Given the description of an element on the screen output the (x, y) to click on. 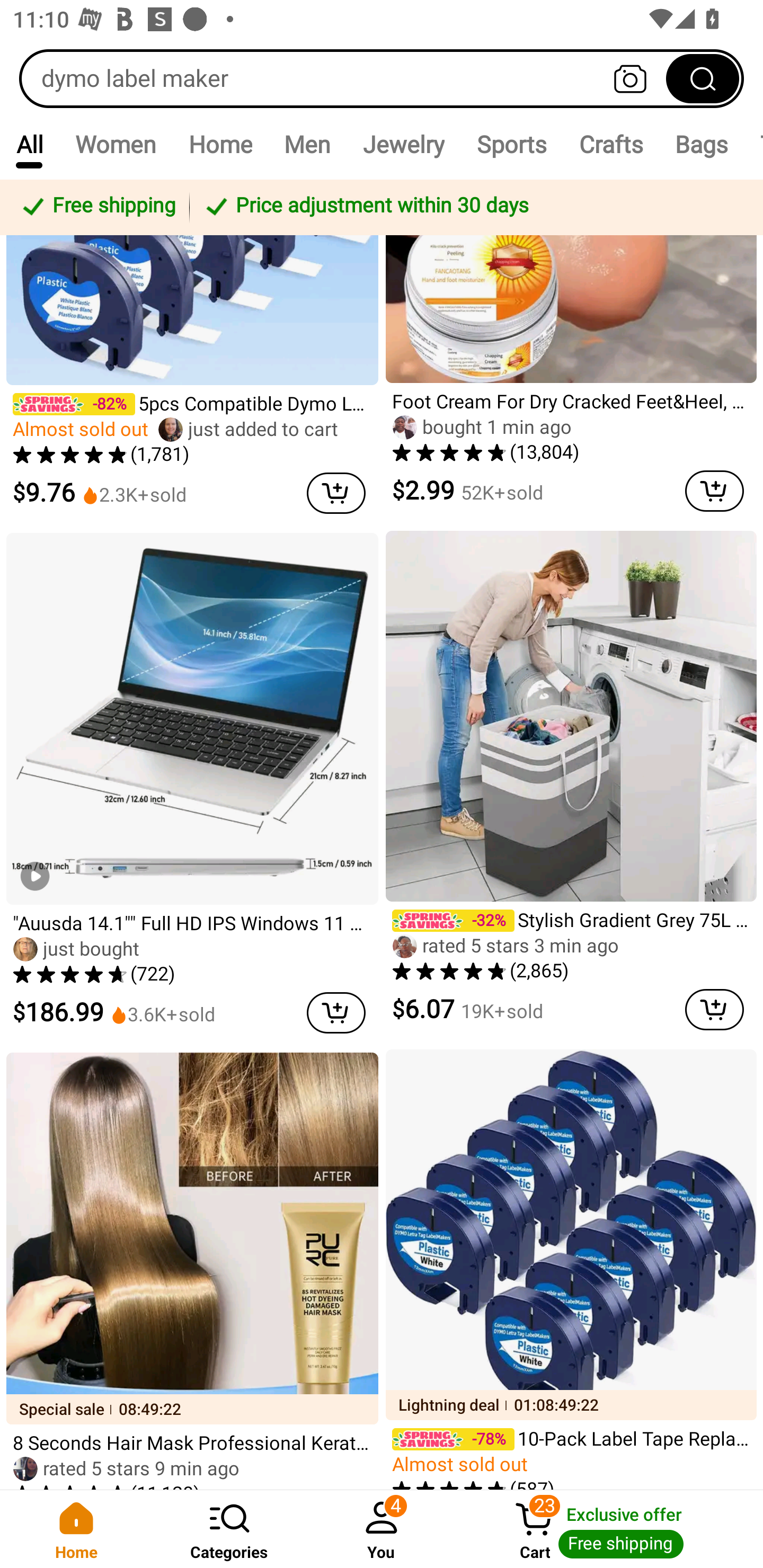
dymo label maker (381, 78)
All (29, 144)
Women (115, 144)
Home (219, 144)
Men (306, 144)
Jewelry (403, 144)
Sports (511, 144)
Crafts (611, 144)
Bags (701, 144)
Free shipping (97, 206)
Price adjustment within 30 days (472, 206)
cart delete (714, 490)
cart delete (335, 492)
cart delete (714, 1009)
cart delete (335, 1012)
Home (76, 1528)
Categories (228, 1528)
You 4 You (381, 1528)
Cart 23 Cart Exclusive offer (610, 1528)
